Given the description of an element on the screen output the (x, y) to click on. 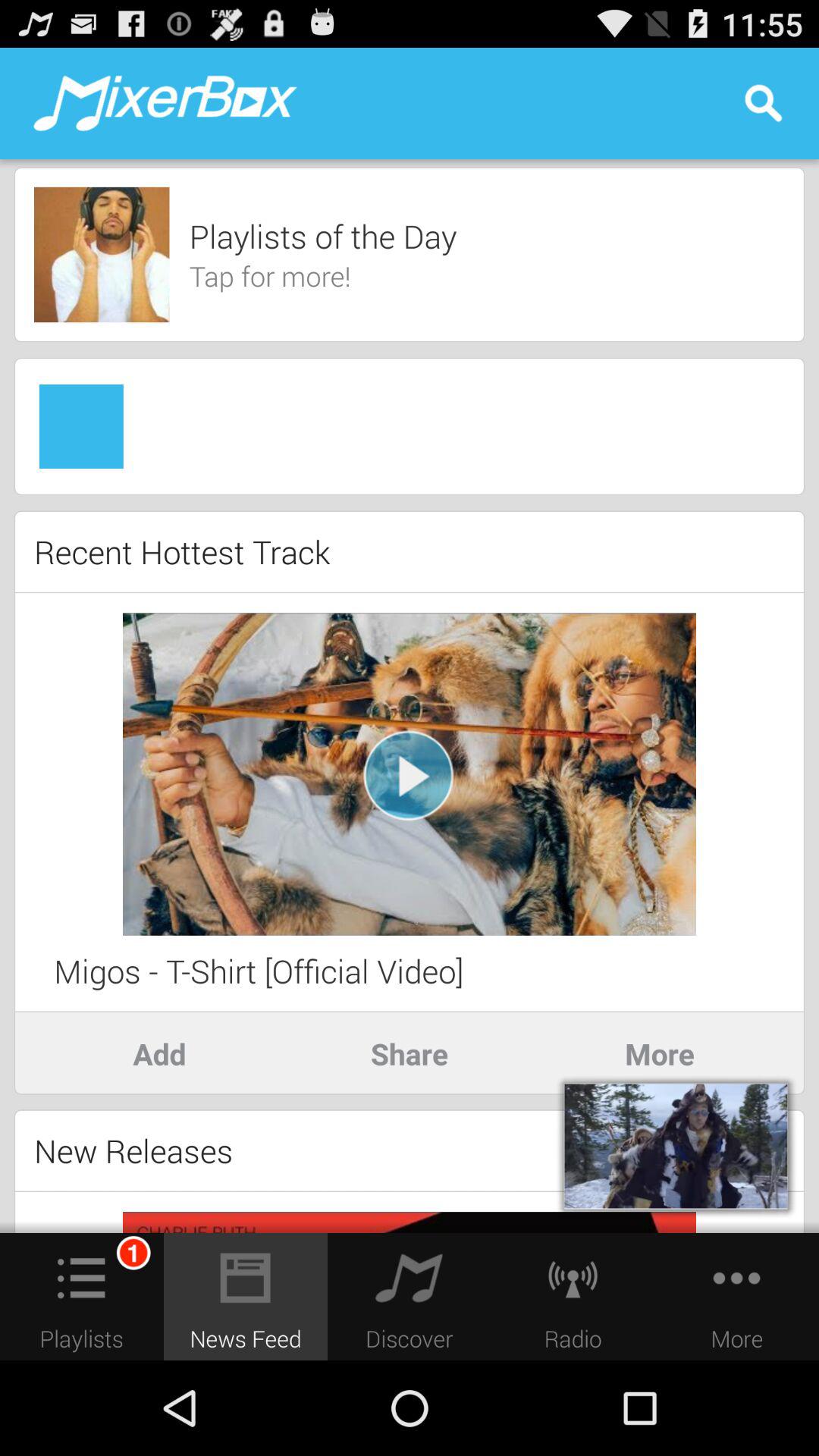
jump until new releases icon (133, 1150)
